Given the description of an element on the screen output the (x, y) to click on. 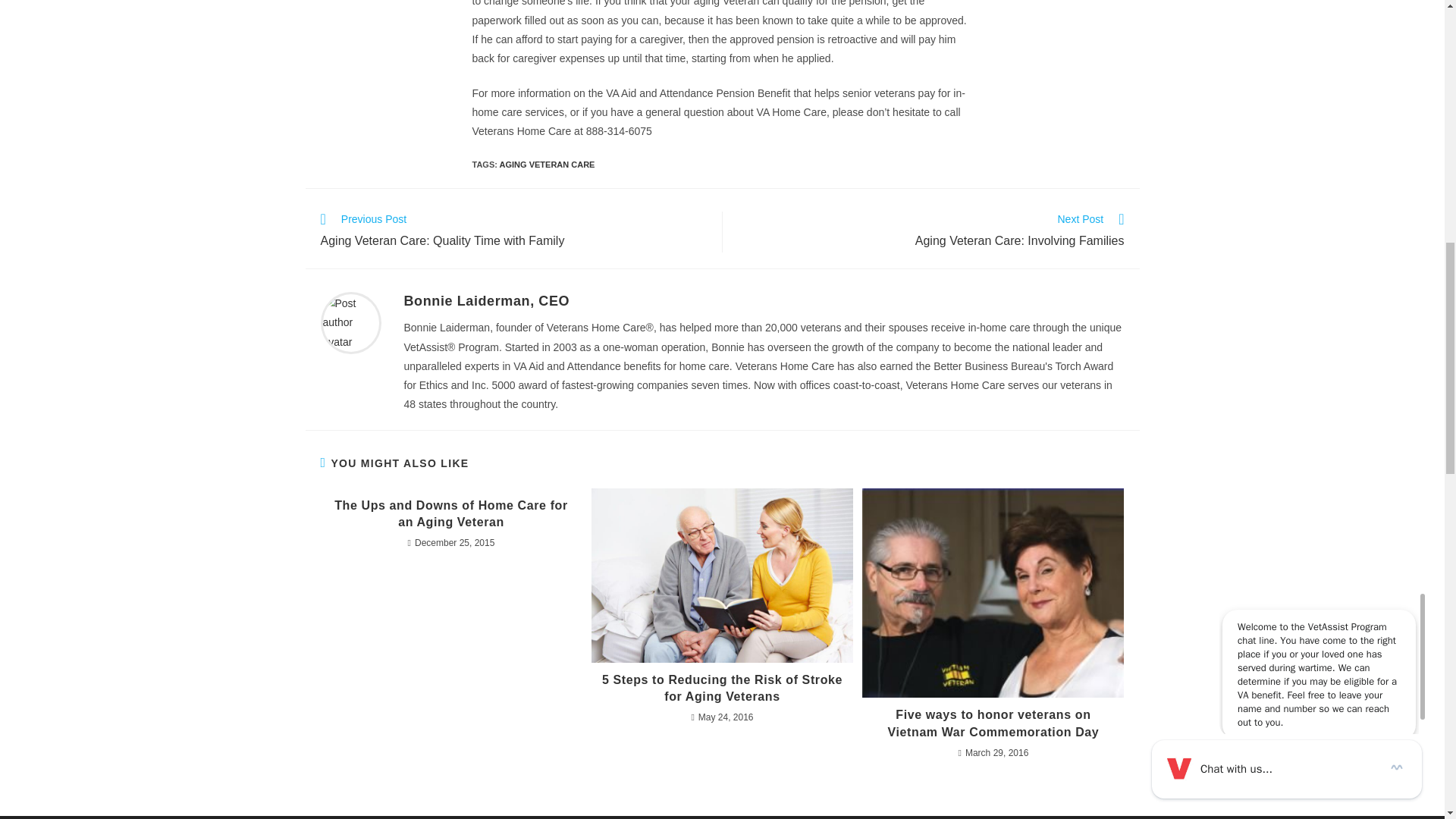
Visit author page (350, 322)
Visit author page (486, 300)
